Given the description of an element on the screen output the (x, y) to click on. 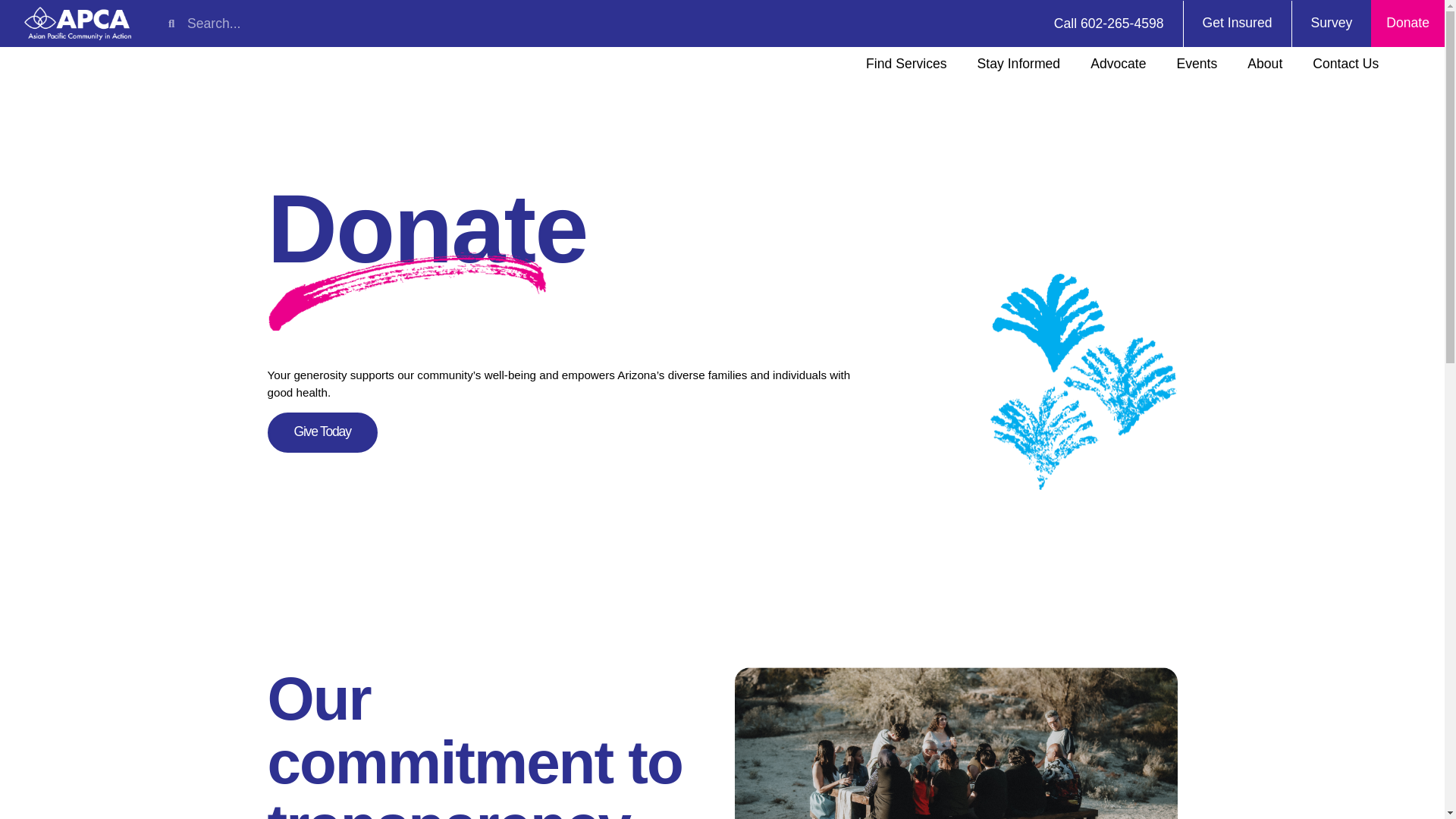
Find Services (906, 63)
Survey (1330, 22)
Call 602-265-4598 (1108, 22)
About (1264, 63)
Get Insured (1236, 22)
Contact Us (1345, 63)
Give Today (321, 432)
Stay Informed (1018, 63)
Events (1197, 63)
Advocate (1117, 63)
